Given the description of an element on the screen output the (x, y) to click on. 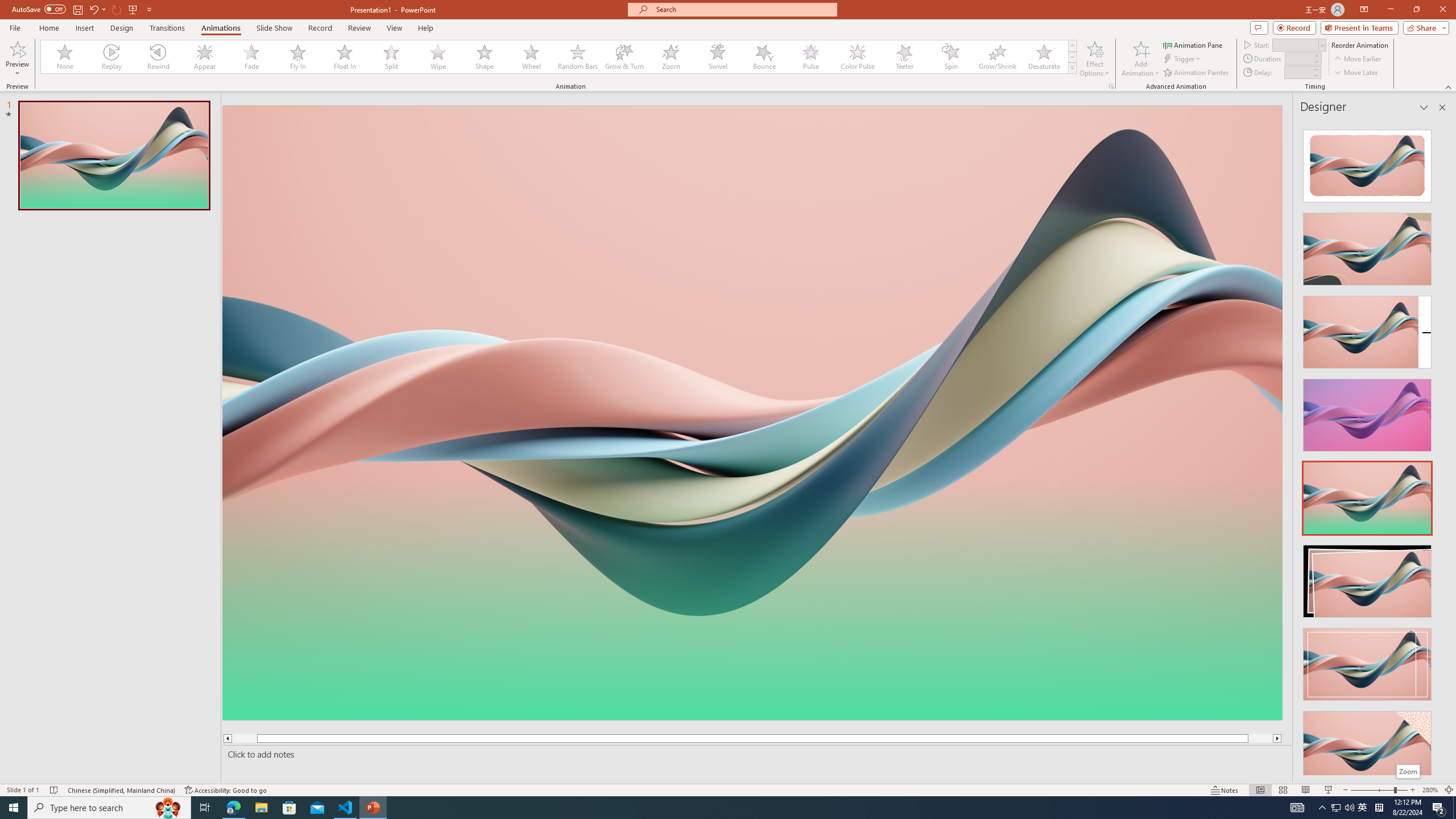
Add Animation (1141, 58)
Move Earlier (1357, 58)
Pulse (810, 56)
Teeter (903, 56)
Grow & Turn (624, 56)
Wheel (531, 56)
Design Idea (1366, 743)
